Given the description of an element on the screen output the (x, y) to click on. 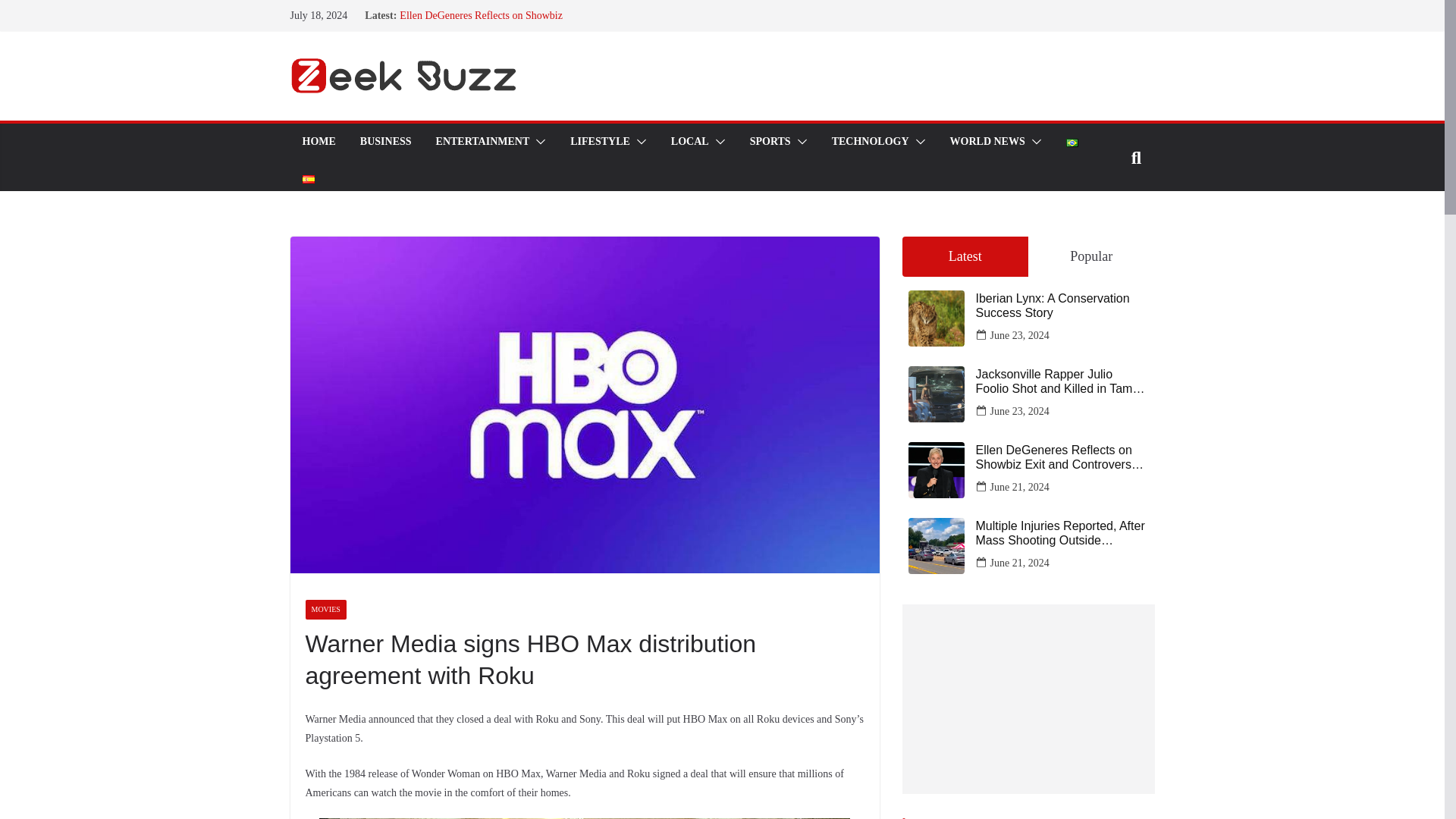
ENTERTAINMENT (482, 141)
SPORTS (769, 141)
LOCAL (690, 141)
BUSINESS (385, 141)
WORLD NEWS (987, 141)
HOME (317, 141)
TECHNOLOGY (869, 141)
LIFESTYLE (600, 141)
MOVIES (325, 609)
